Given the description of an element on the screen output the (x, y) to click on. 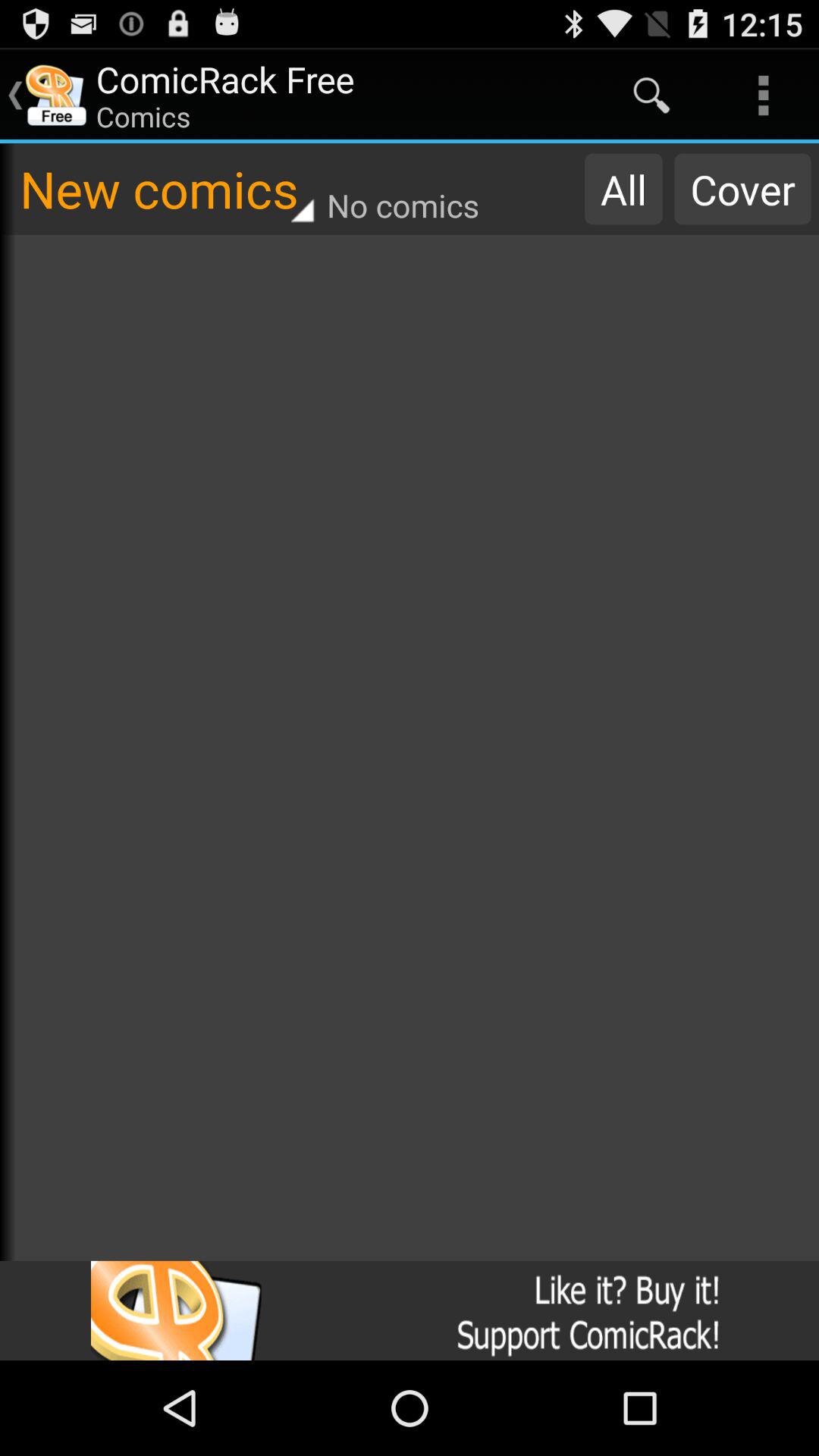
advertisement (409, 1310)
